Given the description of an element on the screen output the (x, y) to click on. 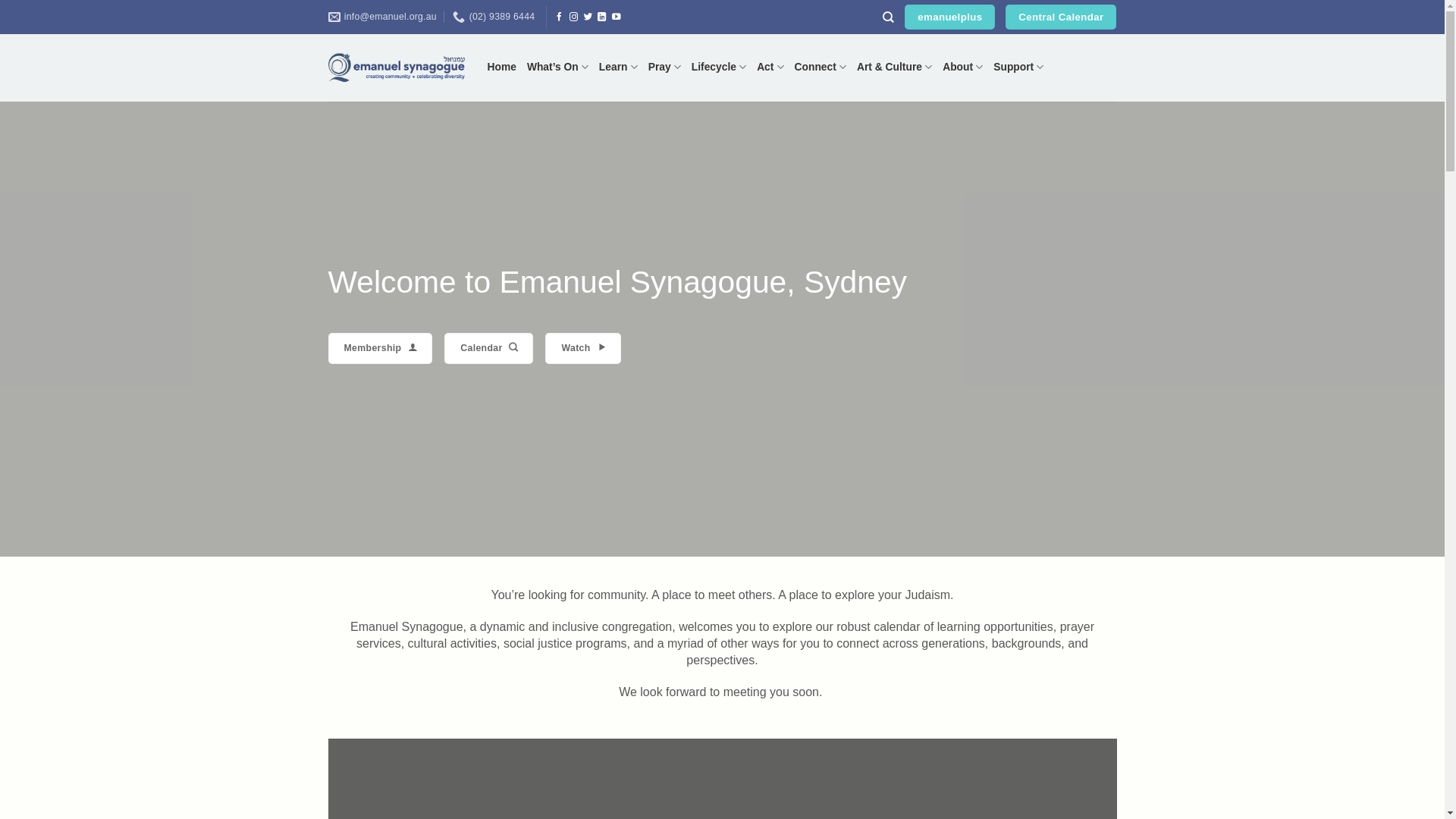
emanuelplus Element type: text (949, 17)
Follow on Twitter Element type: hover (588, 16)
Pray Element type: text (664, 66)
Follow on YouTube Element type: hover (616, 16)
Welcome - Emanuel Synagogue Element type: hover (395, 67)
Act Element type: text (769, 66)
Lifecycle Element type: text (718, 66)
Connect Element type: text (820, 66)
Calendar Element type: text (488, 348)
Follow on LinkedIn Element type: hover (601, 16)
info@emanuel.org.au Element type: text (381, 17)
Follow on Instagram Element type: hover (573, 16)
Membership Element type: text (379, 348)
Learn Element type: text (618, 66)
Watch Element type: text (582, 348)
Follow on Facebook Element type: hover (559, 16)
Support Element type: text (1018, 66)
Central Calendar Element type: text (1060, 17)
Art & Culture Element type: text (893, 66)
(02) 9389 6444 Element type: text (493, 17)
About Element type: text (962, 66)
Home Element type: text (500, 66)
